Given the description of an element on the screen output the (x, y) to click on. 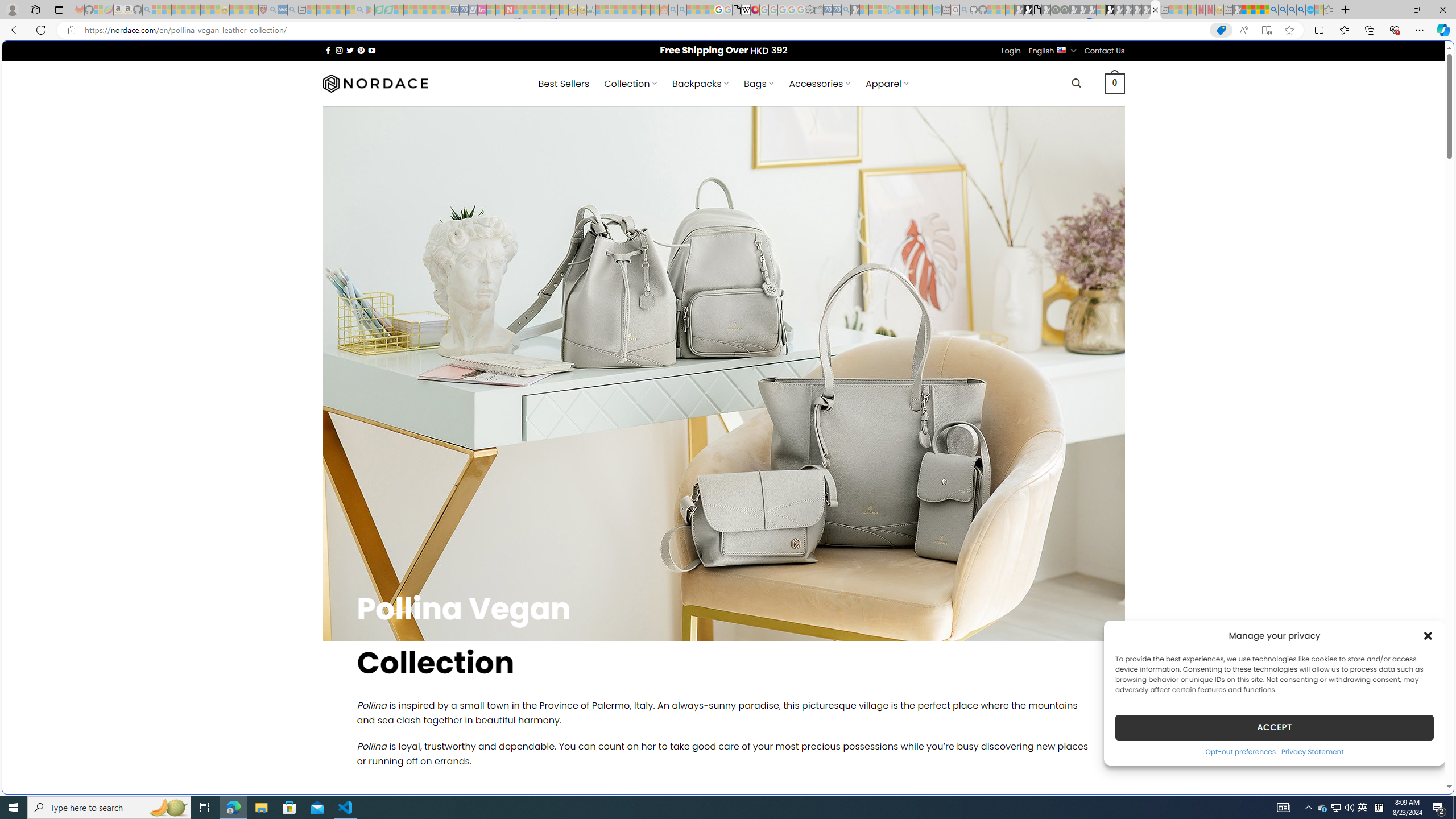
Login (1010, 50)
MediaWiki (754, 9)
Contact Us (1104, 50)
Robert H. Shmerling, MD - Harvard Health - Sleeping (263, 9)
Microsoft Start Gaming - Sleeping (854, 9)
Trusted Community Engagement and Contributions | Guidelines (518, 9)
